Given the description of an element on the screen output the (x, y) to click on. 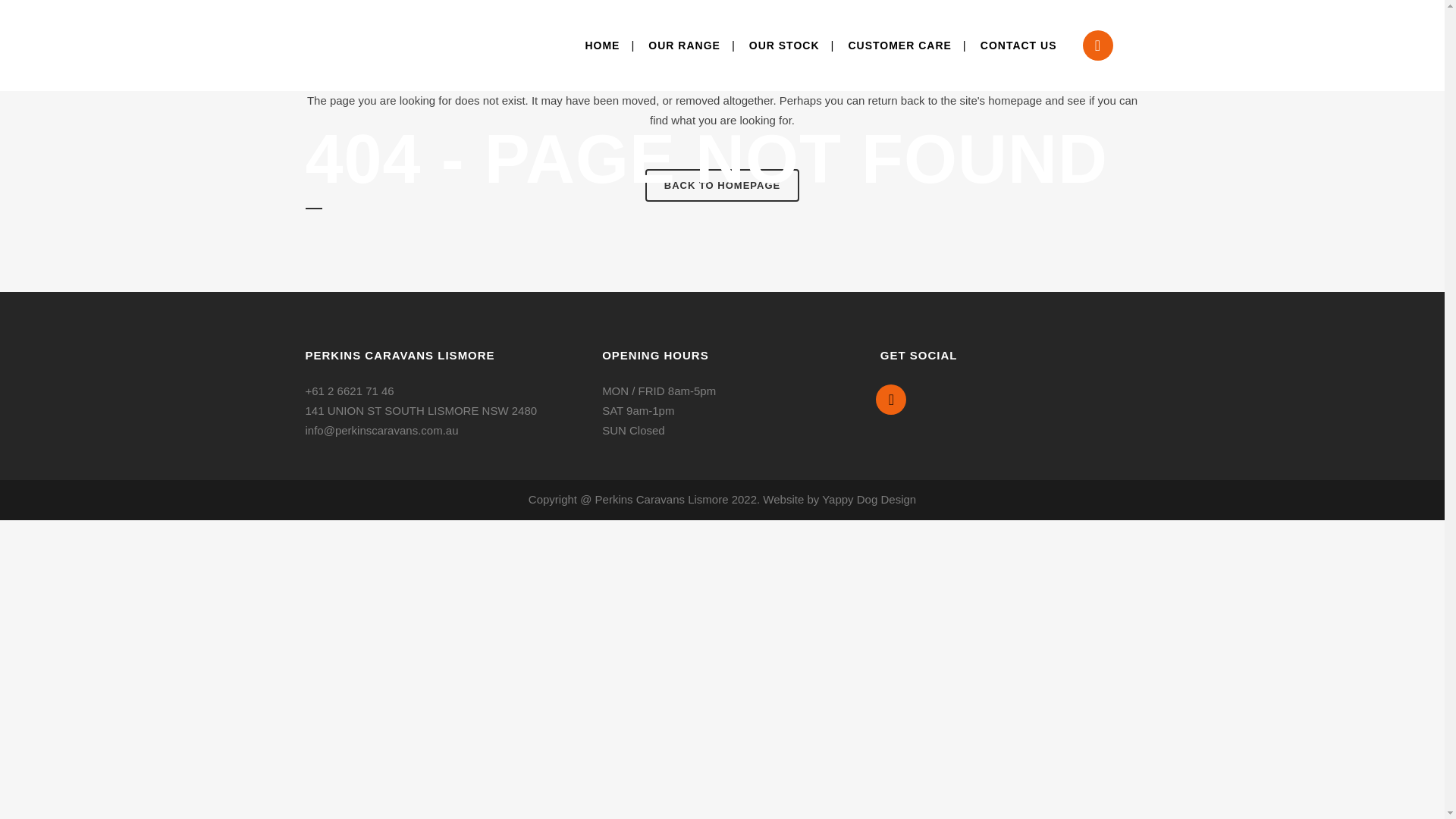
BACK TO HOMEPAGE (722, 184)
CONTACT US (1019, 45)
OUR RANGE (683, 45)
OUR STOCK (784, 45)
CUSTOMER CARE (898, 45)
